Given the description of an element on the screen output the (x, y) to click on. 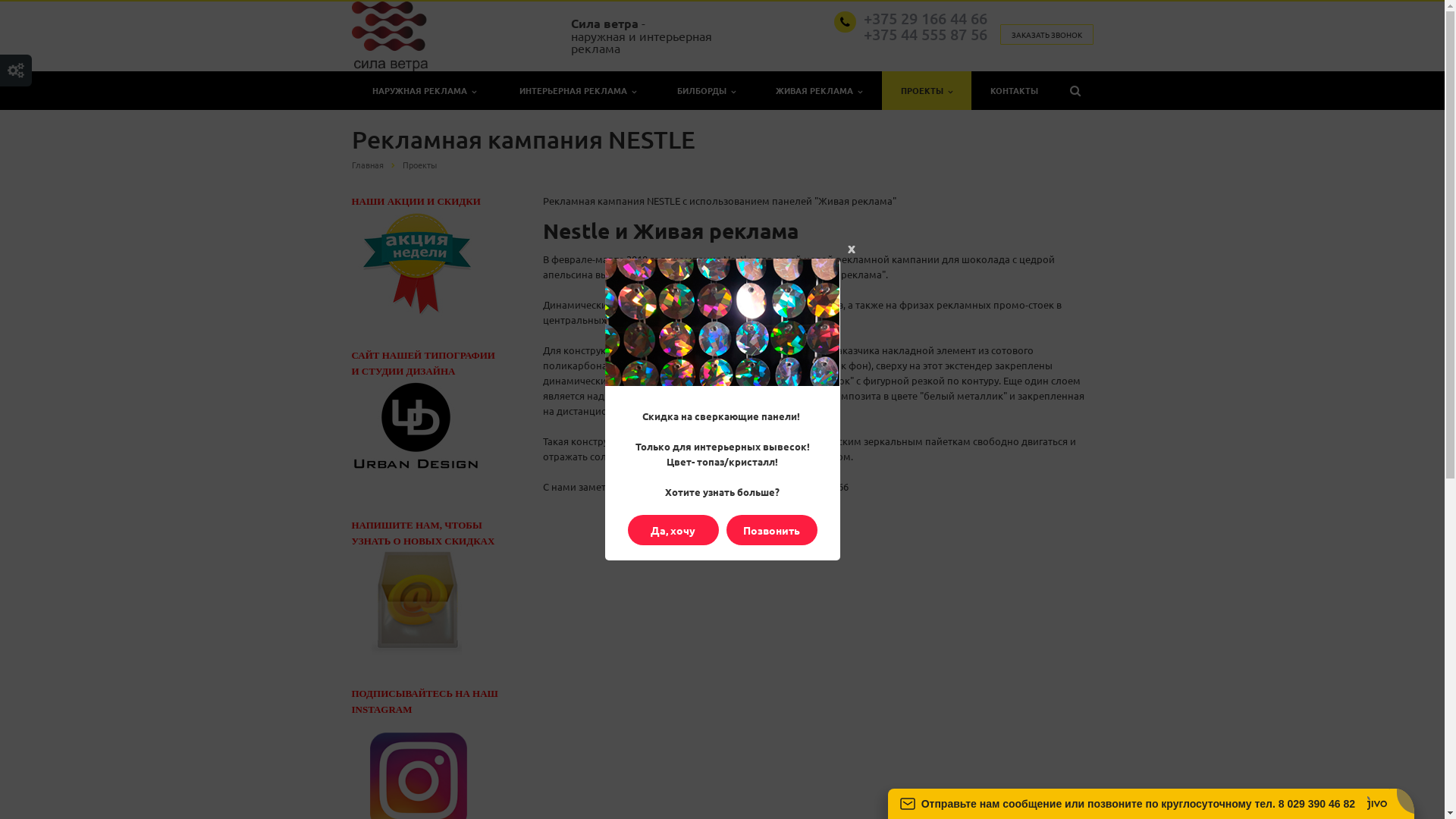
urban.jpg Element type: hover (415, 425)
pochta.jpg Element type: hover (415, 602)
skidki.jpg Element type: hover (411, 262)
